Given the description of an element on the screen output the (x, y) to click on. 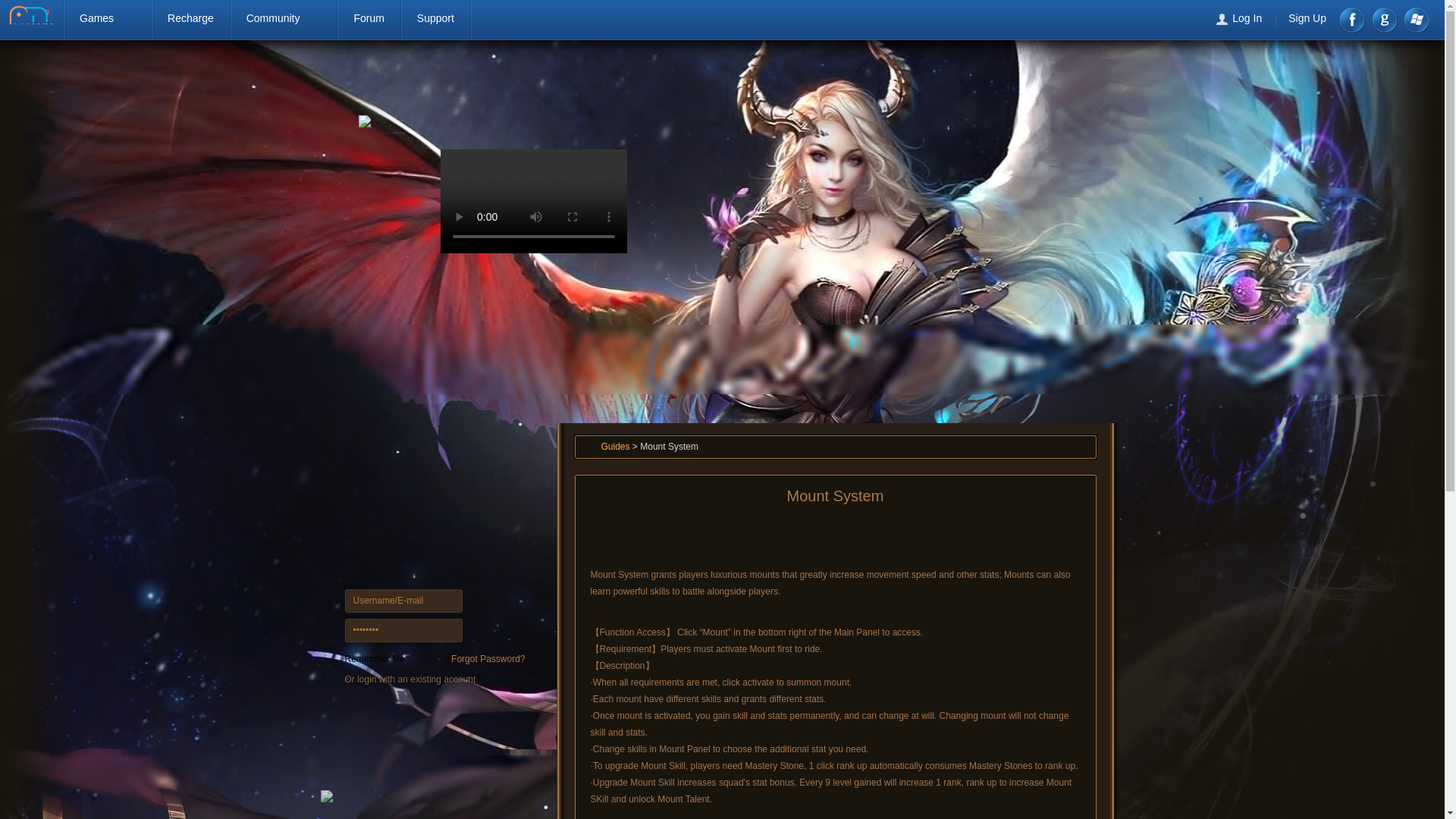
Facebook (1353, 19)
recharge (590, 76)
guides (919, 76)
Google (1384, 19)
Facebook (1353, 19)
Support (435, 18)
Home (709, 79)
google (1384, 19)
Sign Up (384, 737)
forum (829, 76)
